Given the description of an element on the screen output the (x, y) to click on. 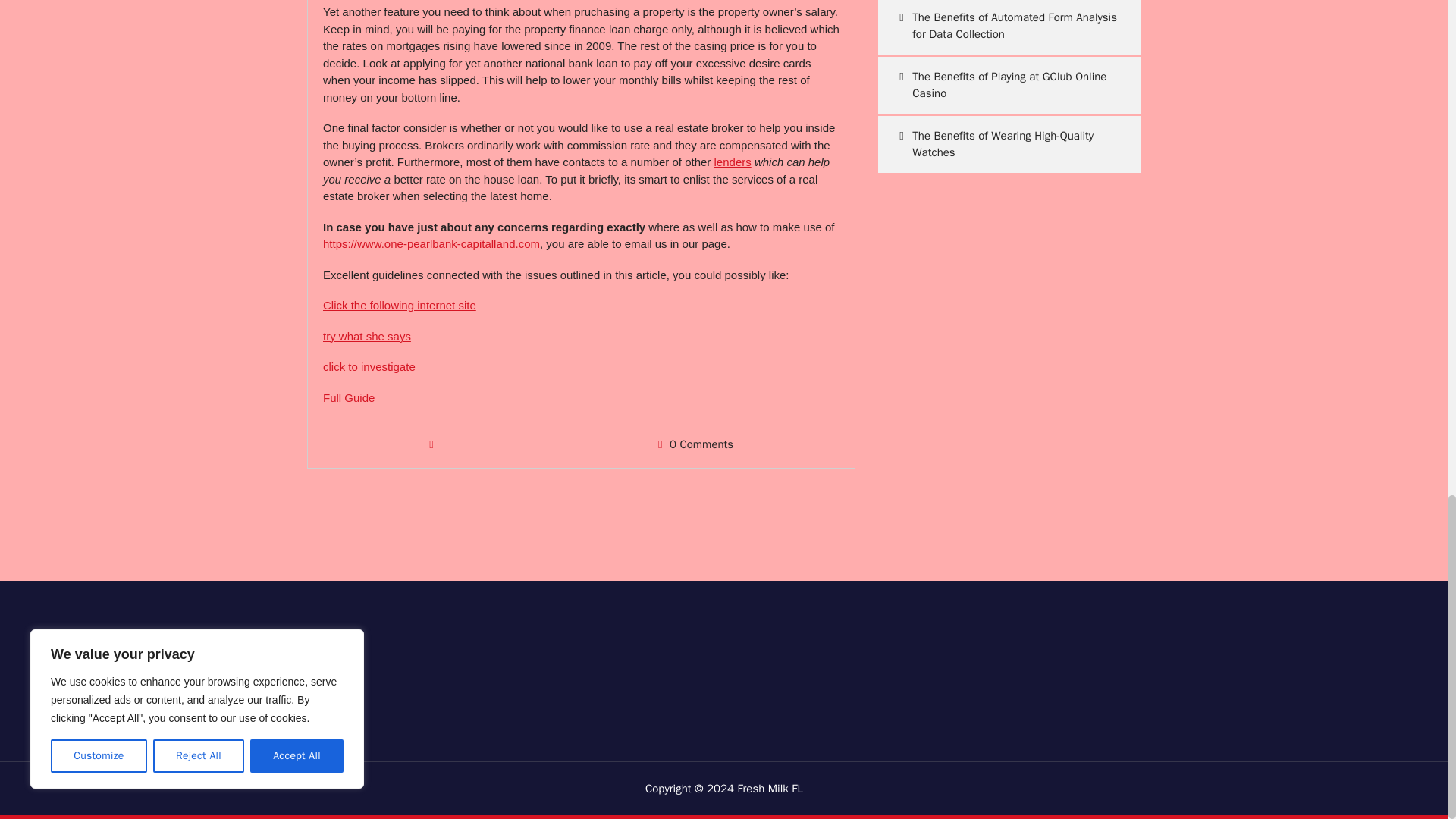
Click the following internet site (399, 305)
lenders (732, 161)
try what she says (366, 336)
